Given the description of an element on the screen output the (x, y) to click on. 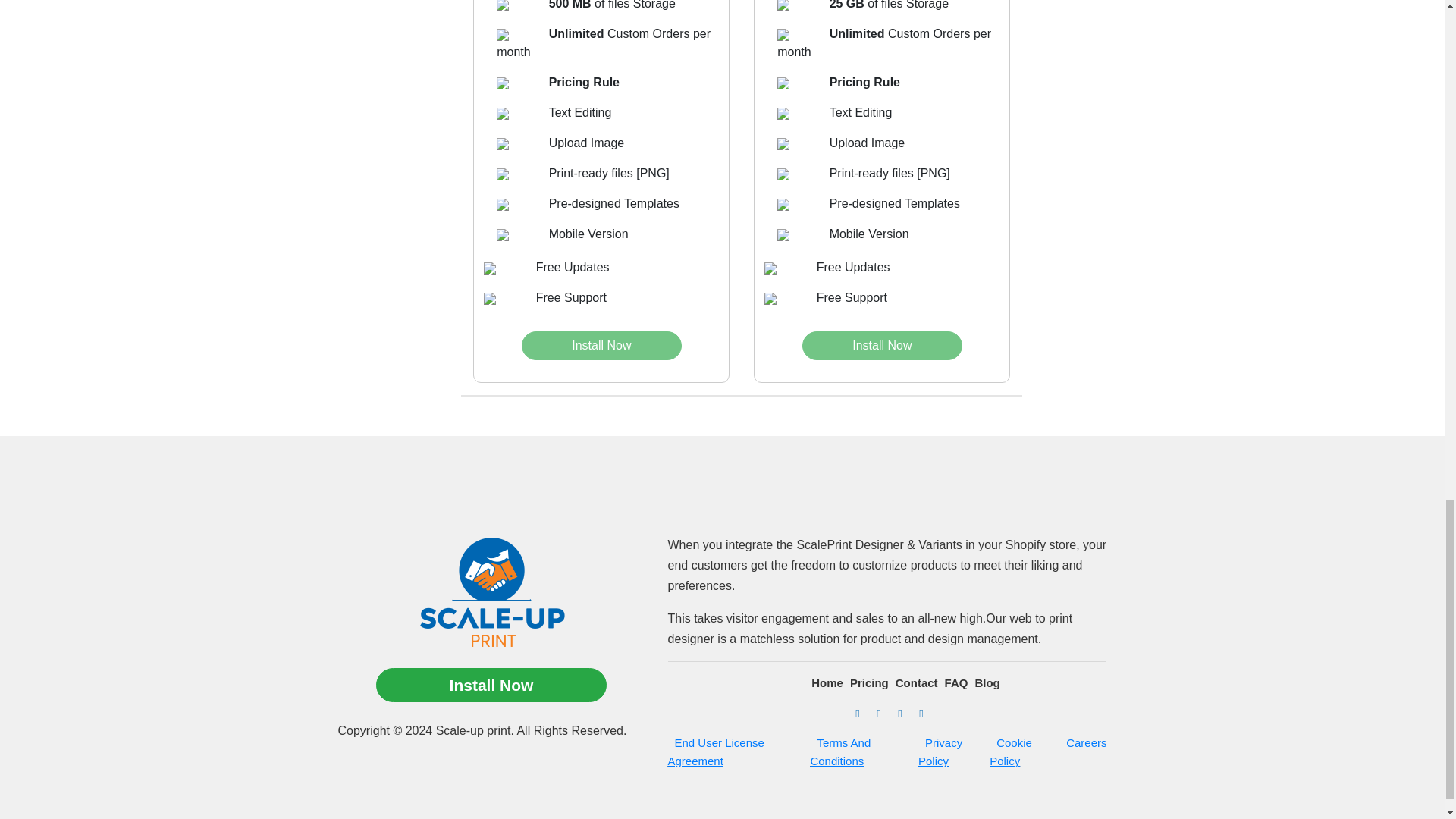
FAQ (952, 682)
Contact (912, 682)
Install Now (881, 345)
Install Now (601, 345)
Install Now (491, 685)
Home (824, 682)
Pricing (865, 682)
